Given the description of an element on the screen output the (x, y) to click on. 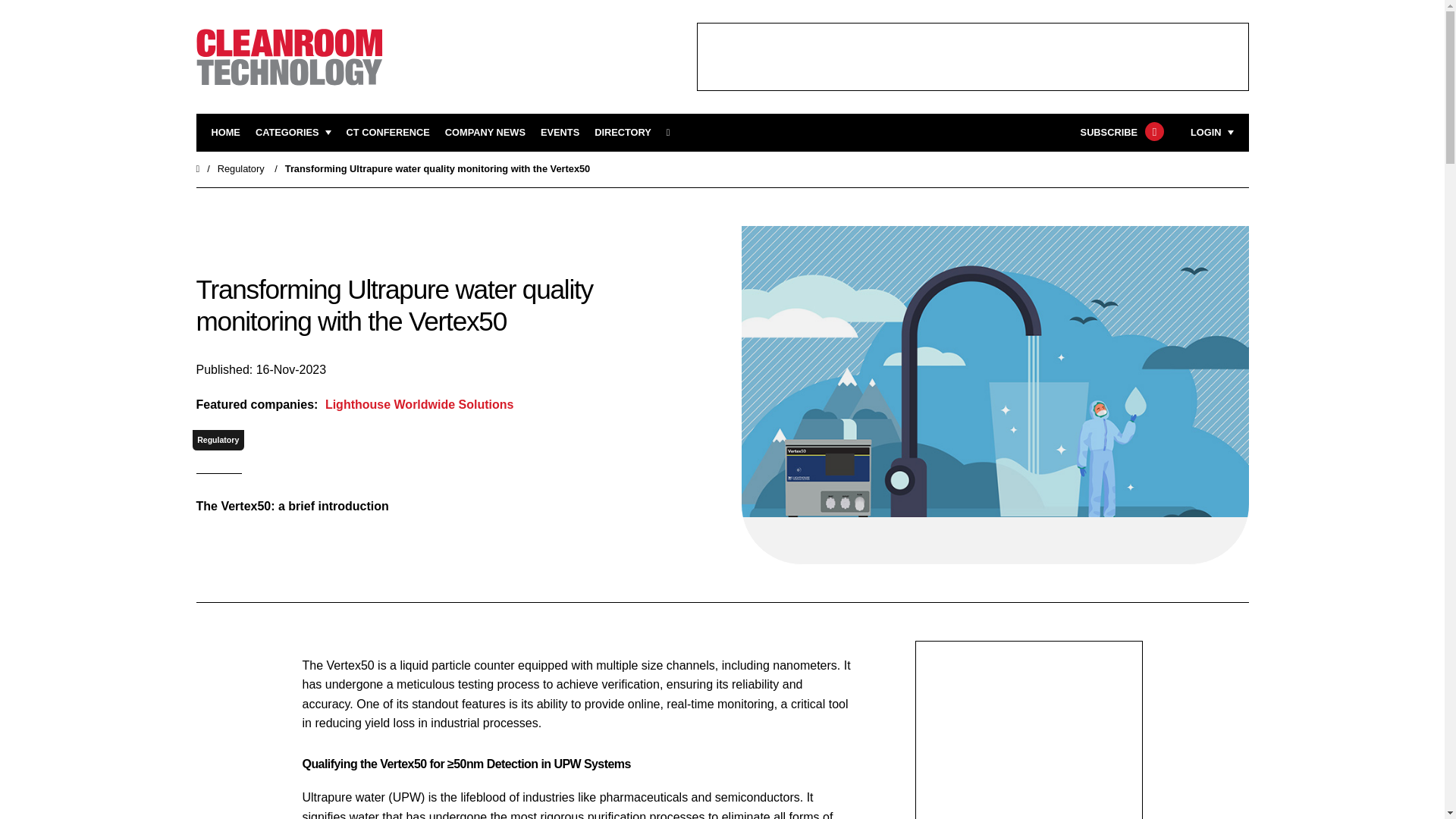
SEARCH (672, 133)
Sign In (1134, 321)
Regulatory (240, 168)
Regulatory (218, 439)
DIRECTORY (622, 133)
Cleanroom Technology (387, 133)
LOGIN (1212, 133)
SUBSCRIBE (1120, 133)
HOME (225, 133)
CATEGORIES (293, 133)
Lighthouse Worldwide Solutions (417, 404)
EVENTS (559, 133)
Directory (622, 133)
CT CONFERENCE (387, 133)
COMPANY NEWS (485, 133)
